Given the description of an element on the screen output the (x, y) to click on. 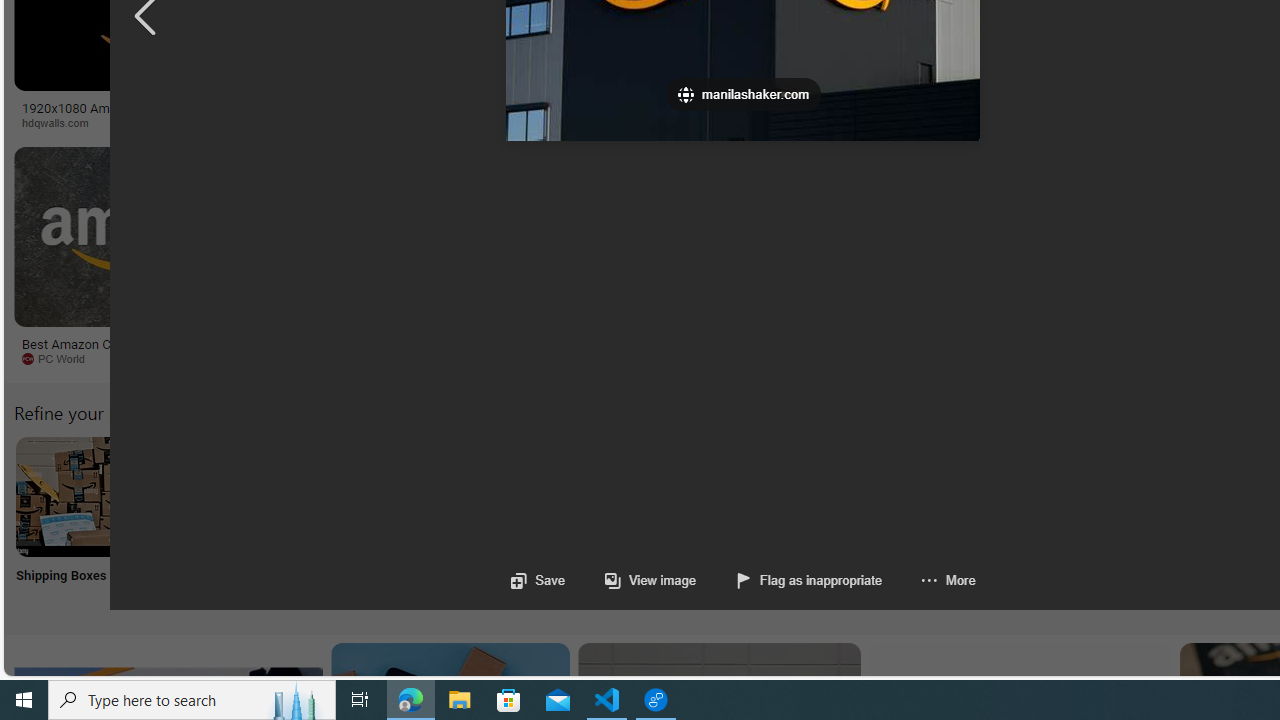
thewrap.com (937, 359)
Wish List (999, 521)
View image (650, 580)
The Verge (419, 359)
Image result for amazon (936, 236)
GOBankingRates (485, 123)
Amazon Retail Store Retail Store (867, 521)
More (928, 580)
